Given the description of an element on the screen output the (x, y) to click on. 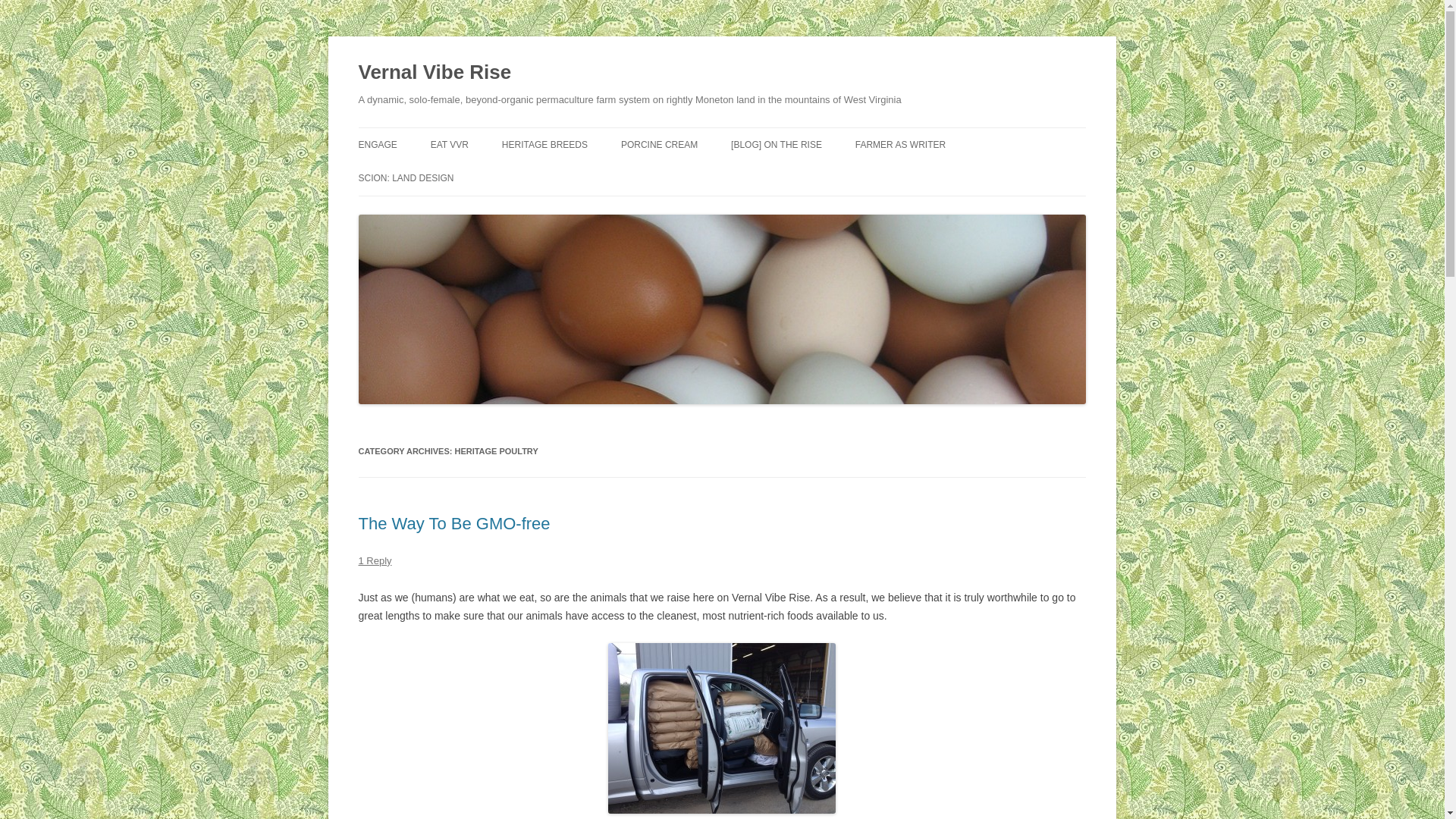
SCION: LAND DESIGN (405, 177)
LARD LIPS (697, 176)
VVR ETHICS (433, 176)
PORCINE CREAM (659, 144)
1 Reply (374, 560)
The Way To Be GMO-free (454, 523)
FARMER AS WRITER (900, 144)
KARAKACHAN LGDS (577, 176)
HERITAGE BREEDS (545, 144)
BUY ONLINE (506, 176)
EAT VVR (449, 144)
PUBLISHED WORK (931, 176)
ENGAGE (377, 144)
Vernal Vibe Rise (434, 72)
